Given the description of an element on the screen output the (x, y) to click on. 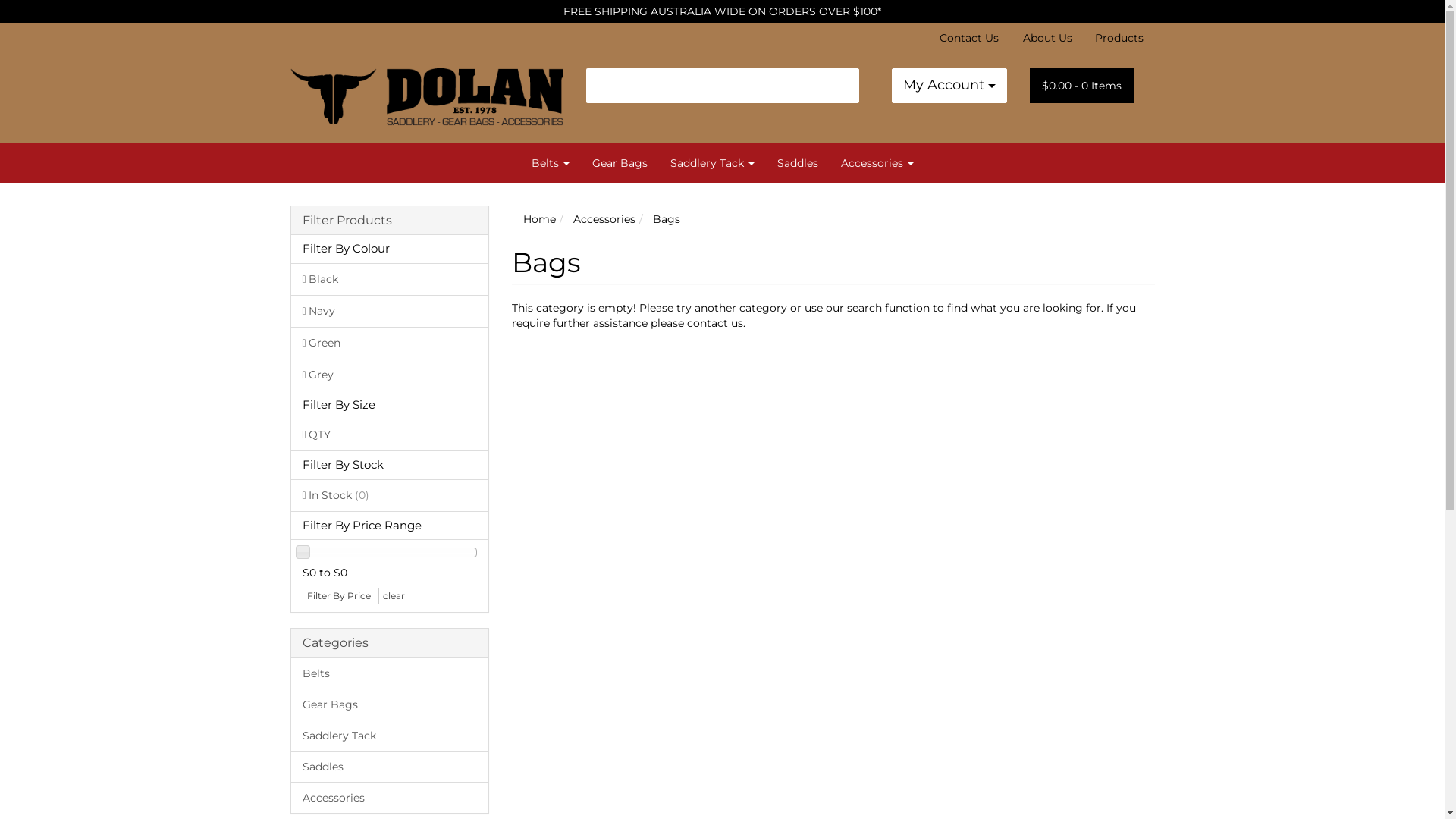
Grey Element type: text (390, 374)
clear Element type: text (392, 595)
Saddles Element type: text (797, 163)
Gear Bags Element type: text (619, 163)
Filter By Price Element type: text (337, 595)
Saddlery Tack Element type: text (390, 734)
$0.00 - 0 Items Element type: text (1081, 85)
Black Element type: text (390, 278)
About Us Element type: text (1047, 37)
Belts Element type: text (550, 163)
QTY Element type: text (390, 434)
Contact Us Element type: text (969, 37)
Filter Products Element type: text (388, 220)
Dolan Enterprises Element type: hover (425, 74)
Accessories Element type: text (604, 218)
Navy Element type: text (390, 310)
Saddlery Tack Element type: text (711, 163)
My Account Element type: text (949, 85)
Gear Bags Element type: text (390, 703)
Search Element type: text (846, 85)
Bags Element type: text (666, 218)
Accessories Element type: text (877, 163)
Saddles Element type: text (390, 765)
Belts Element type: text (390, 673)
Accessories Element type: text (390, 796)
In Stock (0) Element type: text (390, 495)
Green Element type: text (390, 342)
Products Element type: text (1118, 37)
Home Element type: text (539, 218)
